Given the description of an element on the screen output the (x, y) to click on. 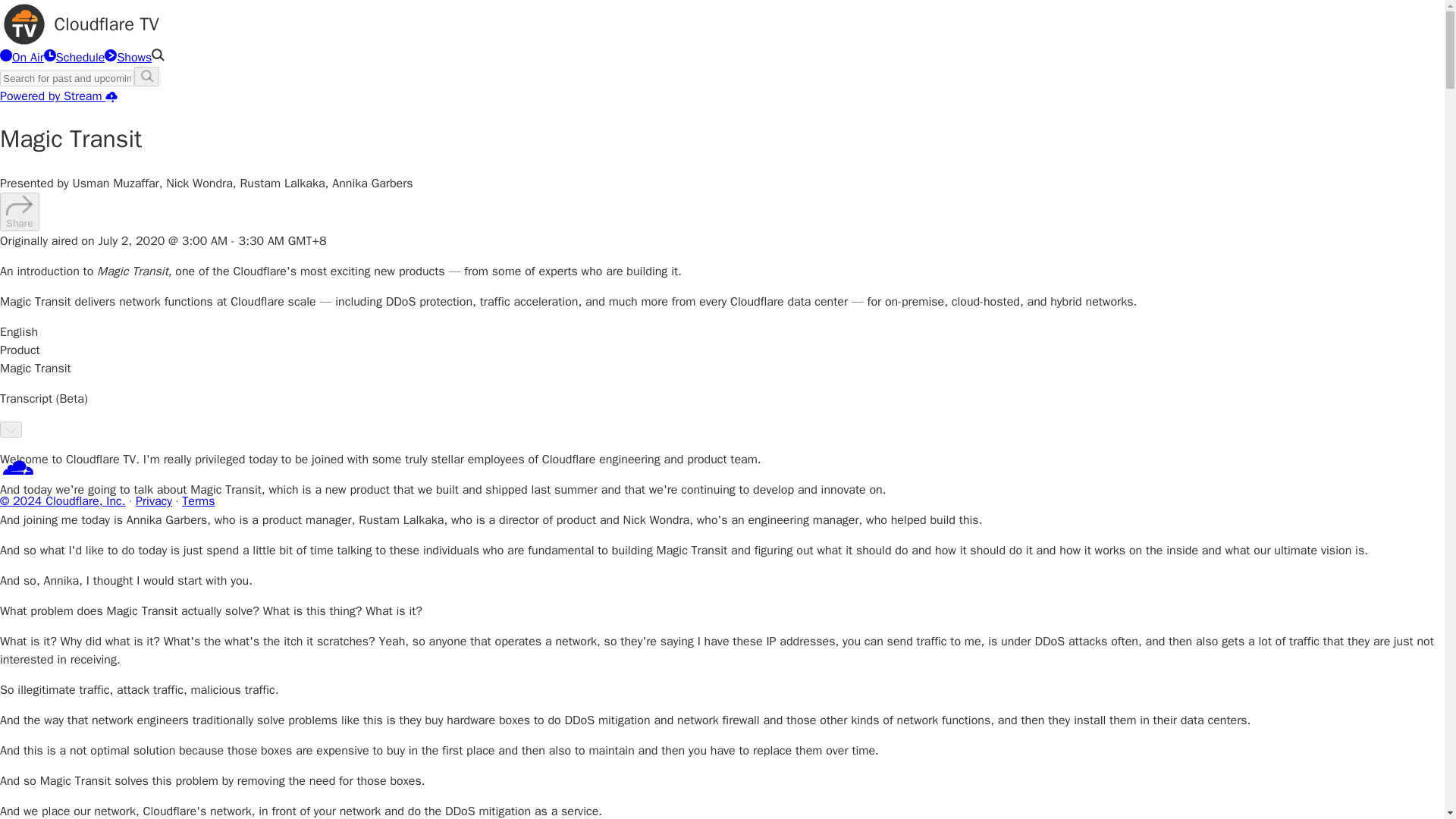
Terms (198, 500)
Privacy (153, 500)
On Air (21, 57)
Shows (127, 57)
Powered by Stream (58, 96)
Schedule (73, 57)
Share (19, 211)
